Given the description of an element on the screen output the (x, y) to click on. 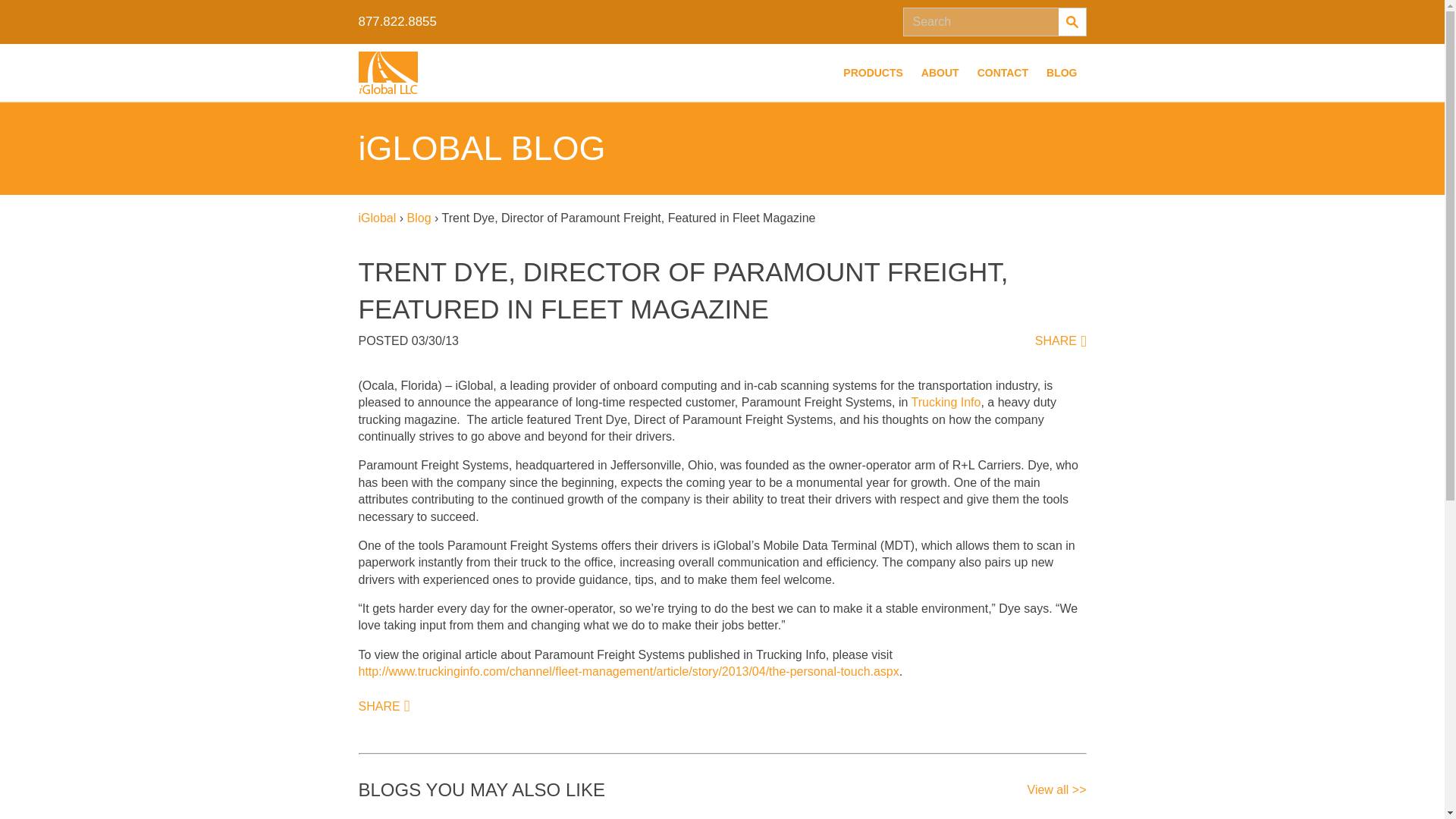
CONTACT (1002, 72)
877.822.8855 (396, 21)
ABOUT (940, 72)
iGlobal (377, 217)
Trucking Info (946, 401)
PRODUCTS (873, 72)
Blog (418, 217)
